Given the description of an element on the screen output the (x, y) to click on. 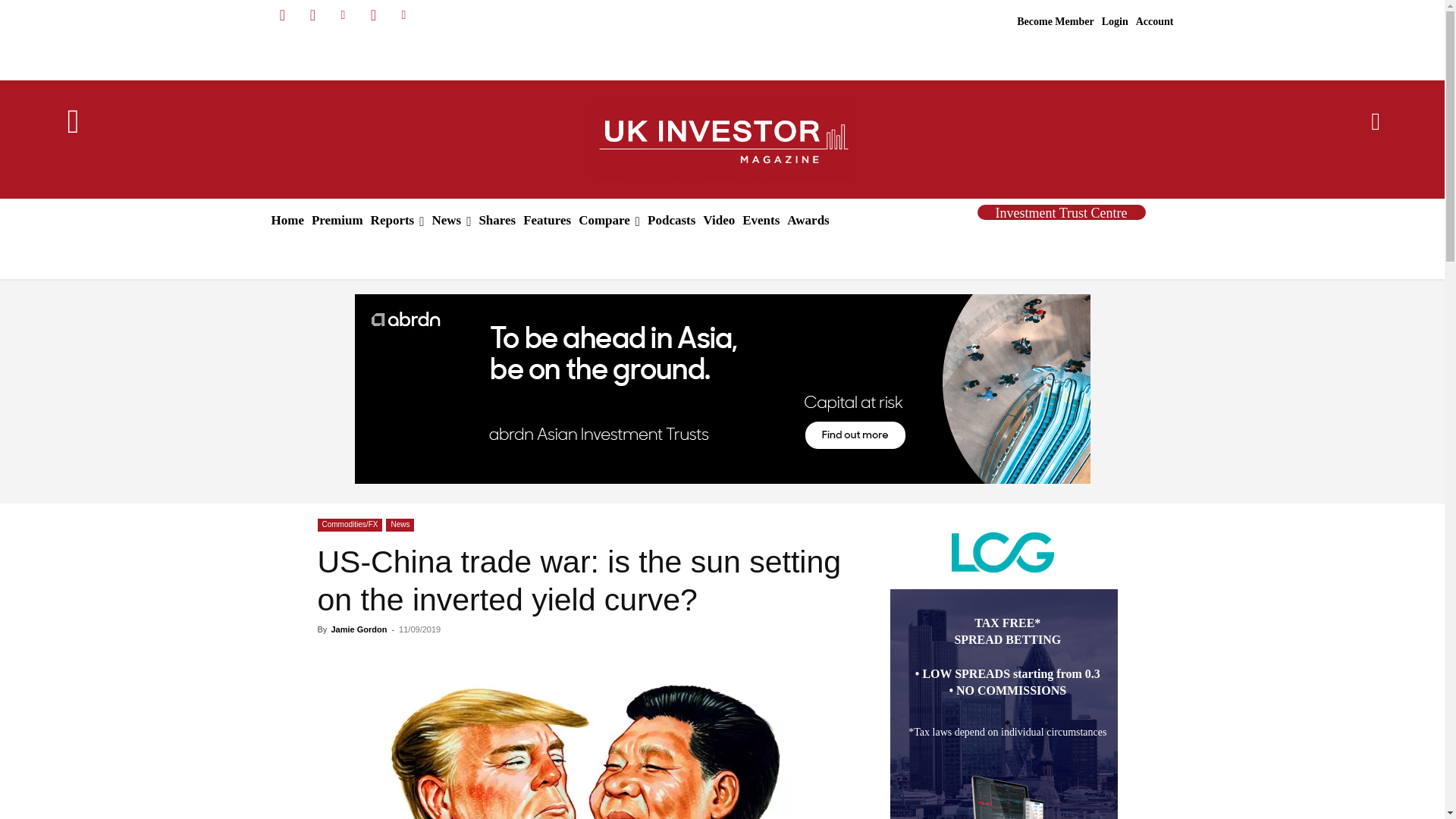
Instagram (312, 15)
Vimeo (403, 15)
Reports (397, 220)
Premium (336, 220)
Become Member (1055, 22)
Facebook (281, 15)
Linkedin (342, 15)
Home (286, 220)
Twitter (373, 15)
Account (1154, 22)
